Given the description of an element on the screen output the (x, y) to click on. 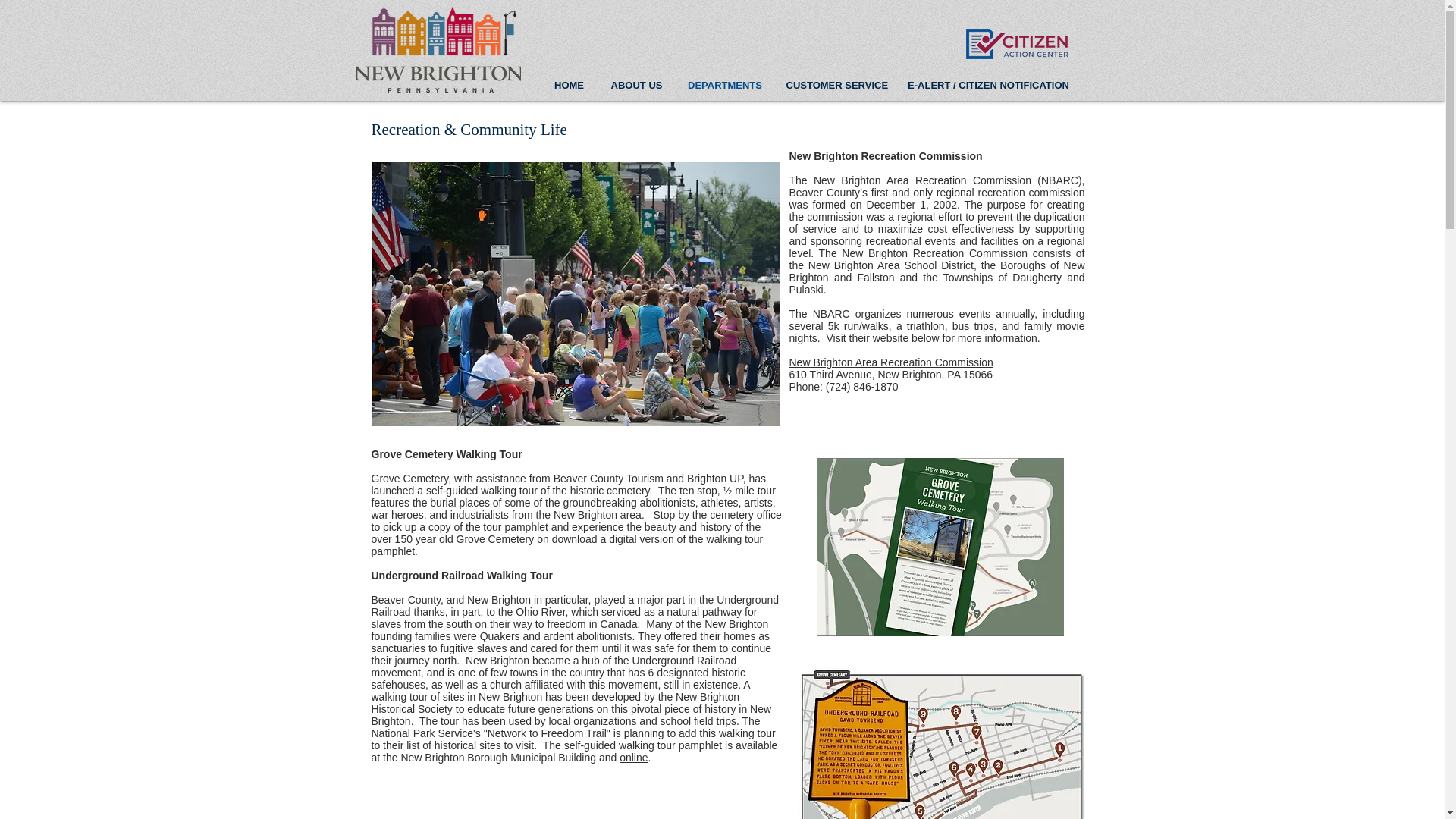
HOME (568, 84)
ABOUT US (635, 84)
download (573, 539)
CUSTOMER SERVICE (835, 84)
DEPARTMENTS (724, 84)
online (633, 757)
New Brighton Area Recreation Commission (890, 362)
